Given the description of an element on the screen output the (x, y) to click on. 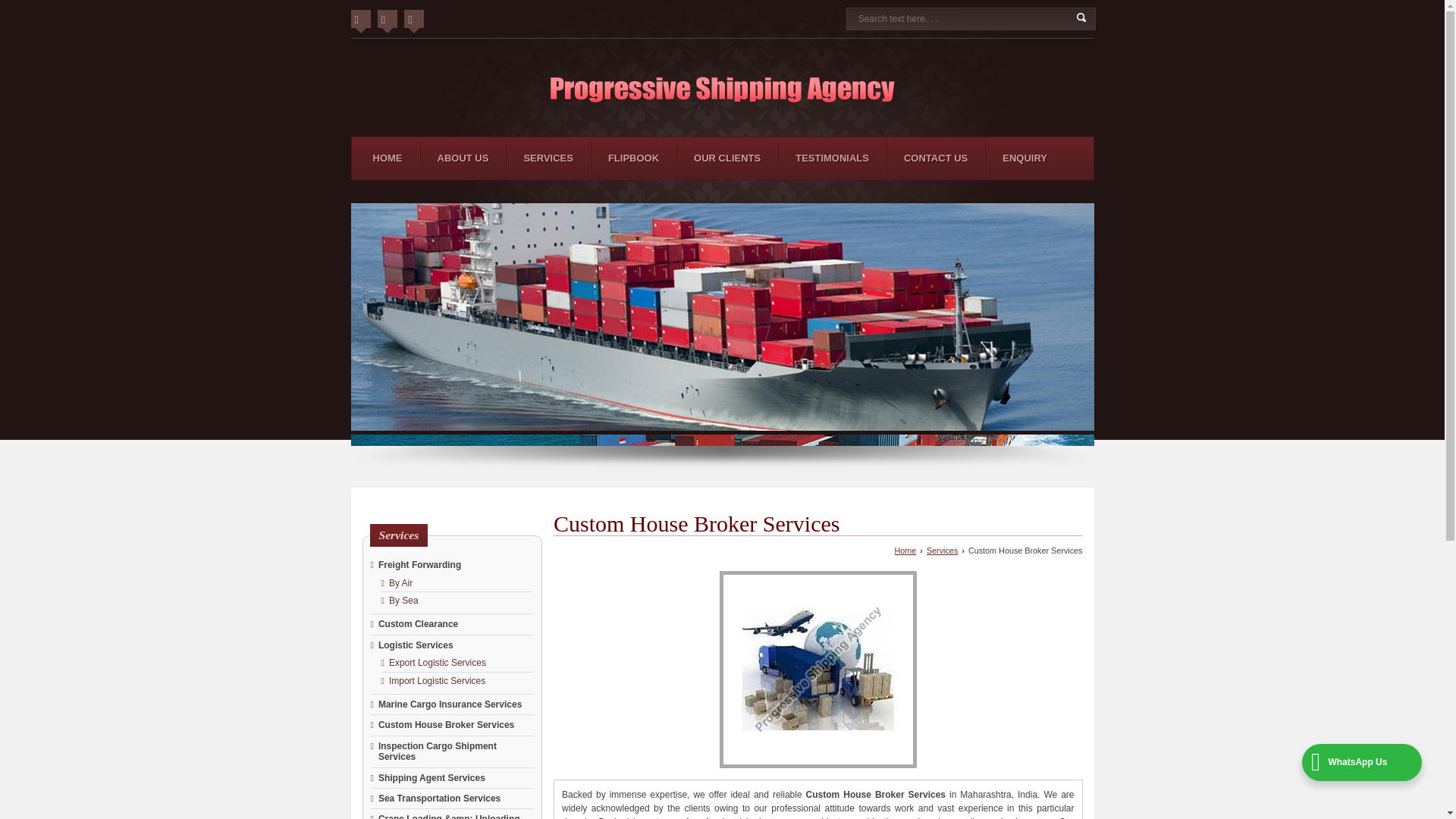
Freight Forwarding (419, 564)
Flipbook (634, 158)
Sea Transportation Services (439, 798)
Services (548, 158)
OUR CLIENTS (727, 158)
By Sea (403, 600)
Testimonials (831, 158)
By Air (400, 583)
About Us (463, 158)
HOME (388, 158)
